Given the description of an element on the screen output the (x, y) to click on. 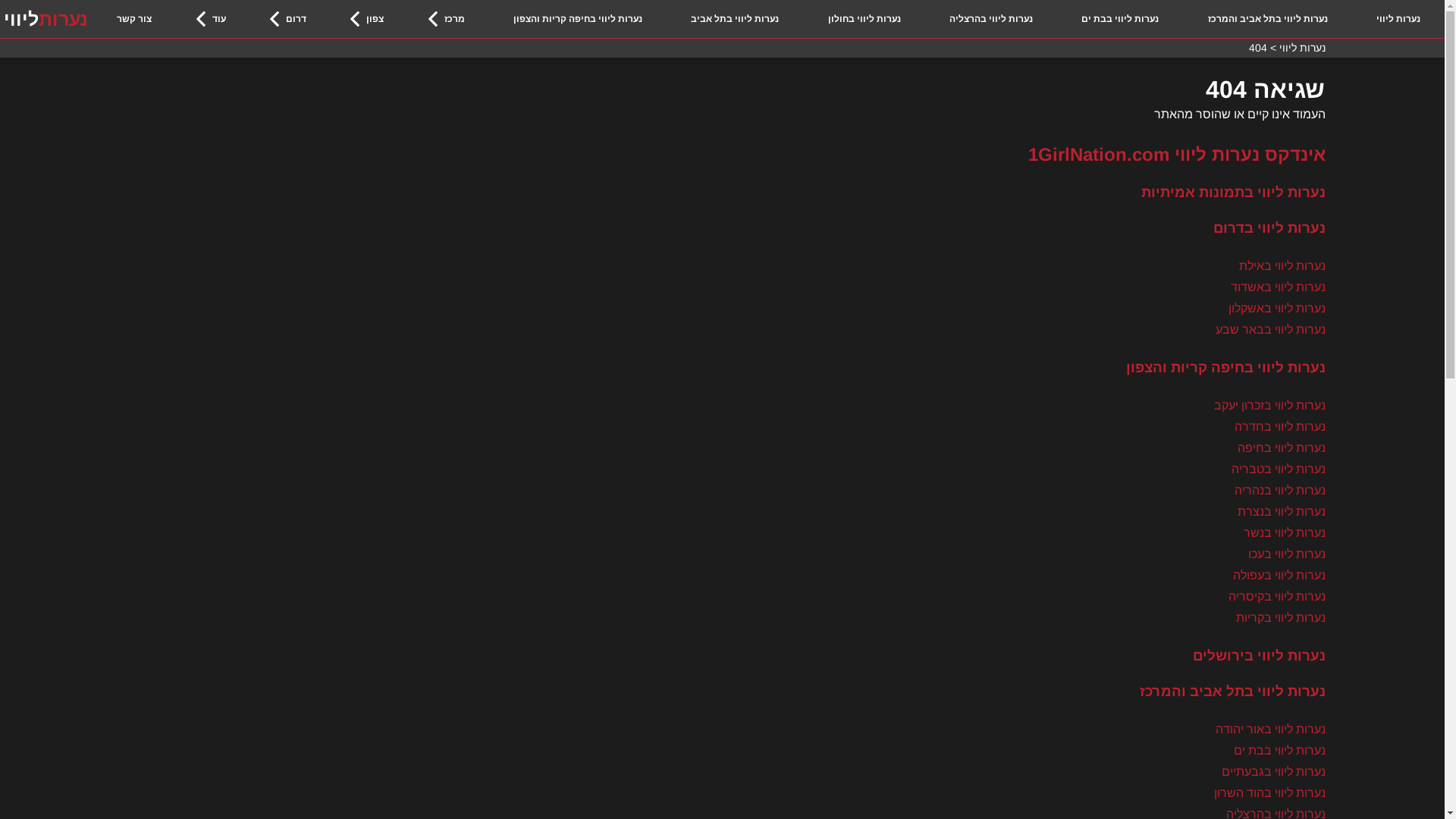
404 Element type: text (1257, 47)
